Given the description of an element on the screen output the (x, y) to click on. 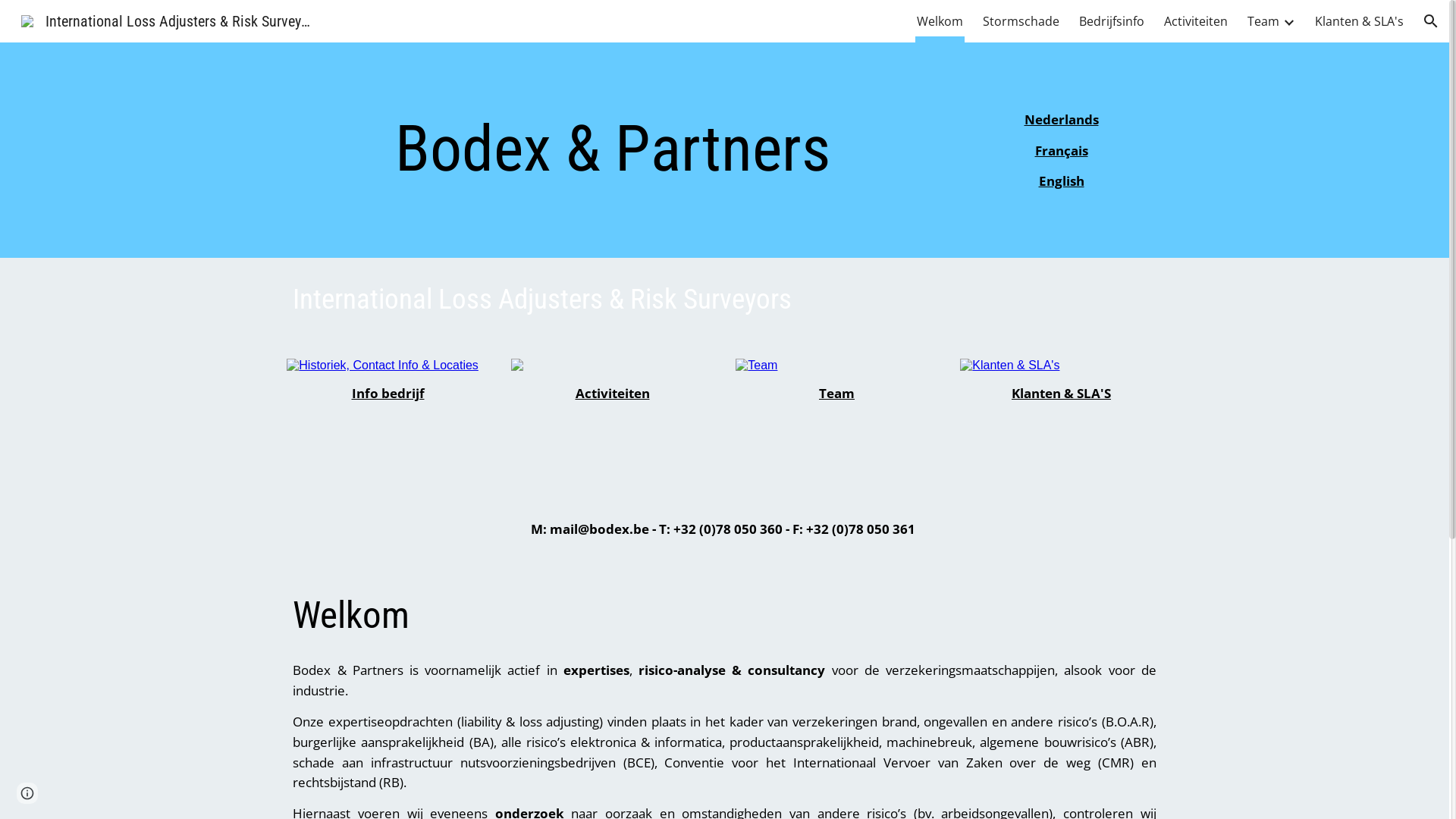
Team Element type: text (836, 392)
Team Element type: text (1263, 20)
Nederlands Element type: text (1060, 118)
Expand/Collapse Element type: hover (1288, 20)
Bedrijfsinfo Element type: text (1111, 20)
Welkom Element type: text (939, 20)
Klanten & SLA'S Element type: text (1060, 392)
Info bedrijf Element type: text (387, 392)
Klanten & SLA's Element type: text (1358, 20)
Activiteiten Element type: text (1195, 20)
International Loss Adjusters & Risk Surveyors Element type: text (168, 19)
English Element type: text (1061, 180)
Activiteiten Element type: text (611, 392)
Stormschade Element type: text (1020, 20)
